Given the description of an element on the screen output the (x, y) to click on. 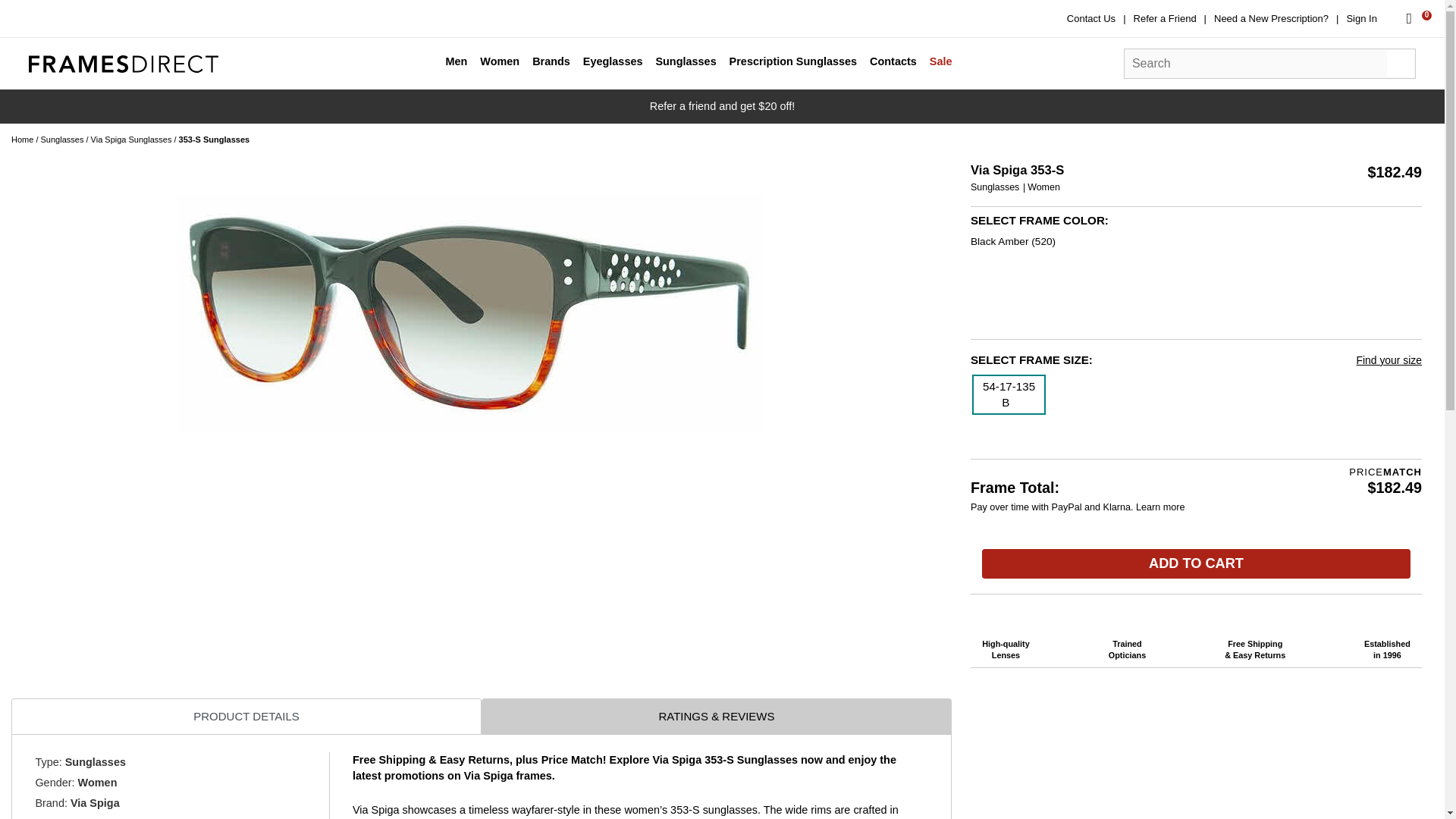
Refer a Friend (1165, 18)
Contact Us (1091, 18)
Sign In (1360, 18)
Need a New Prescription? (1270, 18)
Find an eyecare professional to get a new prescription (1270, 18)
